Given the description of an element on the screen output the (x, y) to click on. 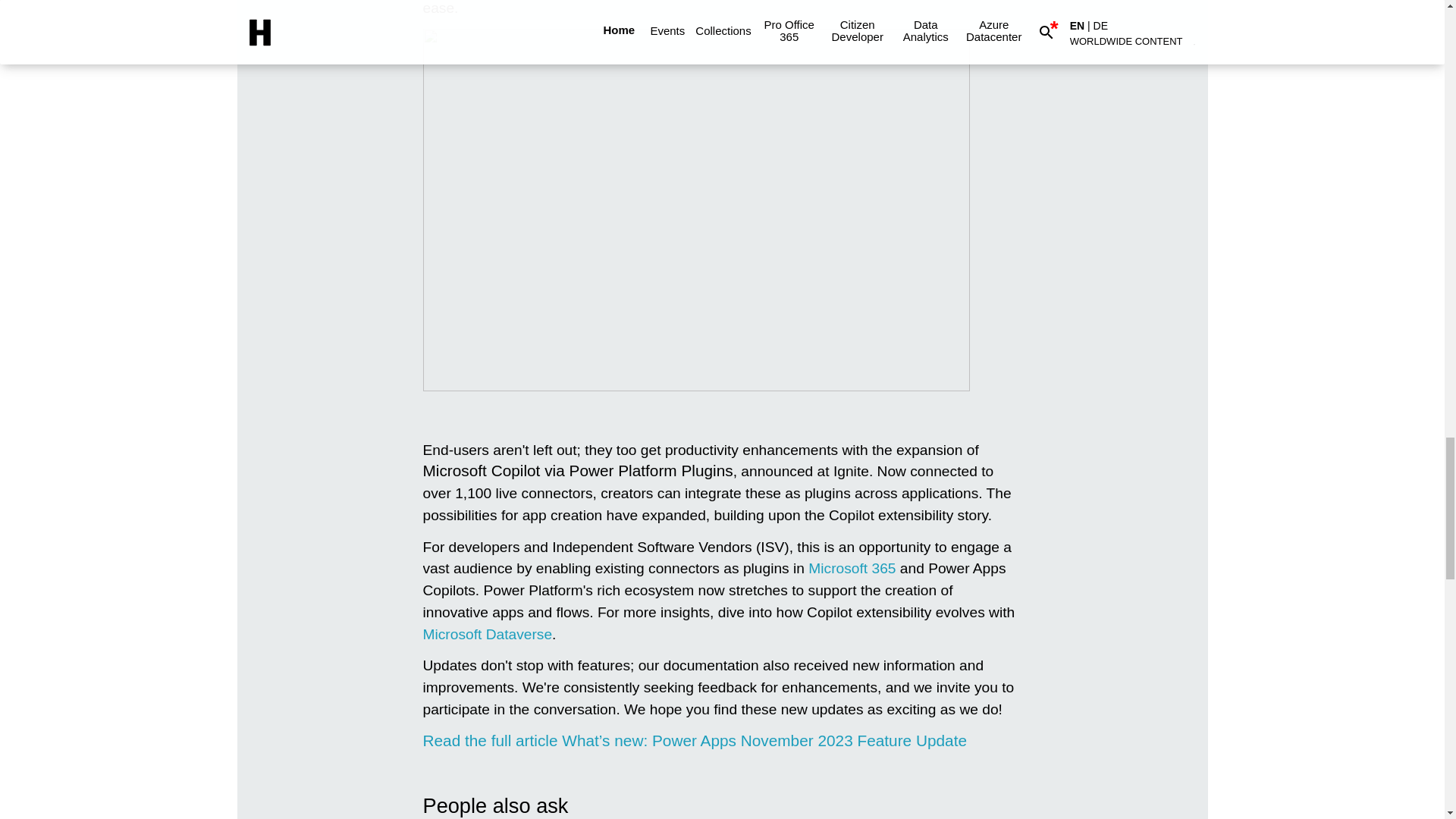
Microsoft 365 (851, 568)
Microsoft Dataverse (488, 634)
Microsoft Dataverse (488, 634)
Microsoft 365 (851, 568)
